Given the description of an element on the screen output the (x, y) to click on. 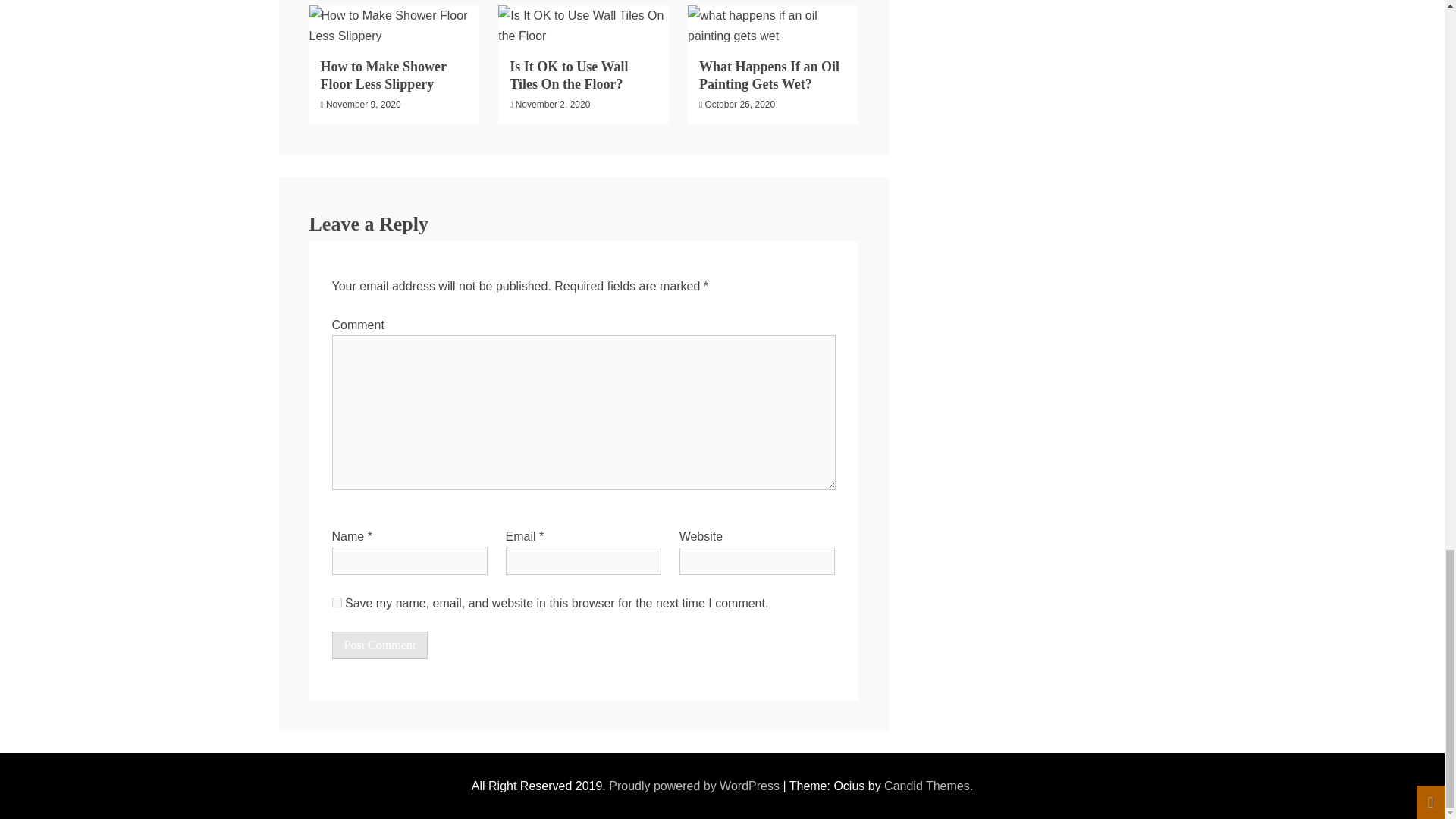
Is It OK to Use Wall Tiles On the Floor? (568, 74)
Post Comment (379, 645)
What Happens If an Oil Painting Gets Wet? (769, 74)
Proudly powered by WordPress (695, 785)
November 2, 2020 (553, 104)
October 26, 2020 (739, 104)
How to Make Shower Floor Less Slippery (382, 74)
yes (336, 602)
Candid Themes (926, 785)
November 9, 2020 (363, 104)
